Given the description of an element on the screen output the (x, y) to click on. 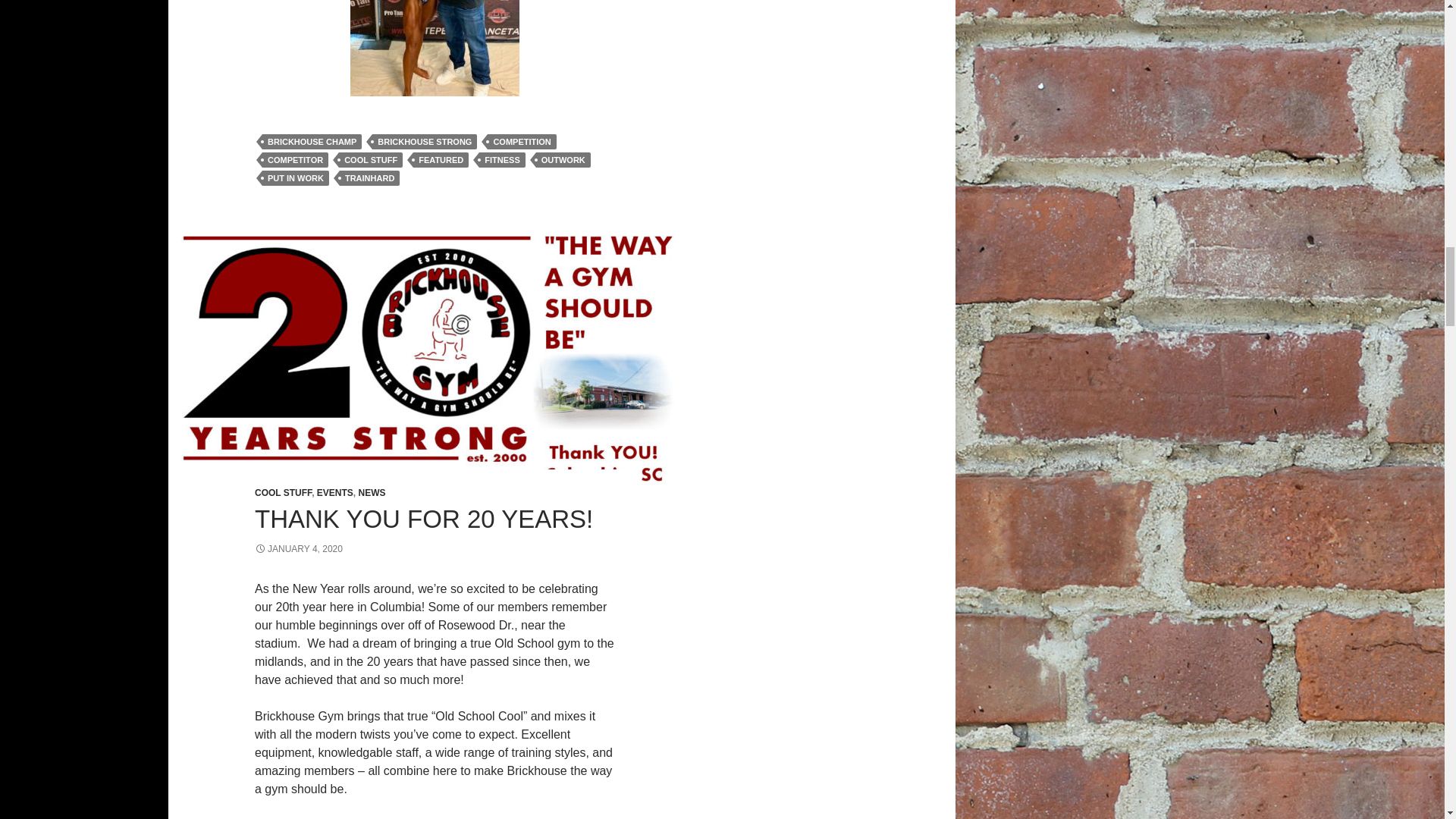
BRICKHOUSE STRONG (424, 141)
COMPETITOR (295, 159)
COOL STUFF (371, 159)
FEATURED (440, 159)
OUTWORK (563, 159)
BRICKHOUSE CHAMP (311, 141)
COMPETITION (521, 141)
FITNESS (501, 159)
